Given the description of an element on the screen output the (x, y) to click on. 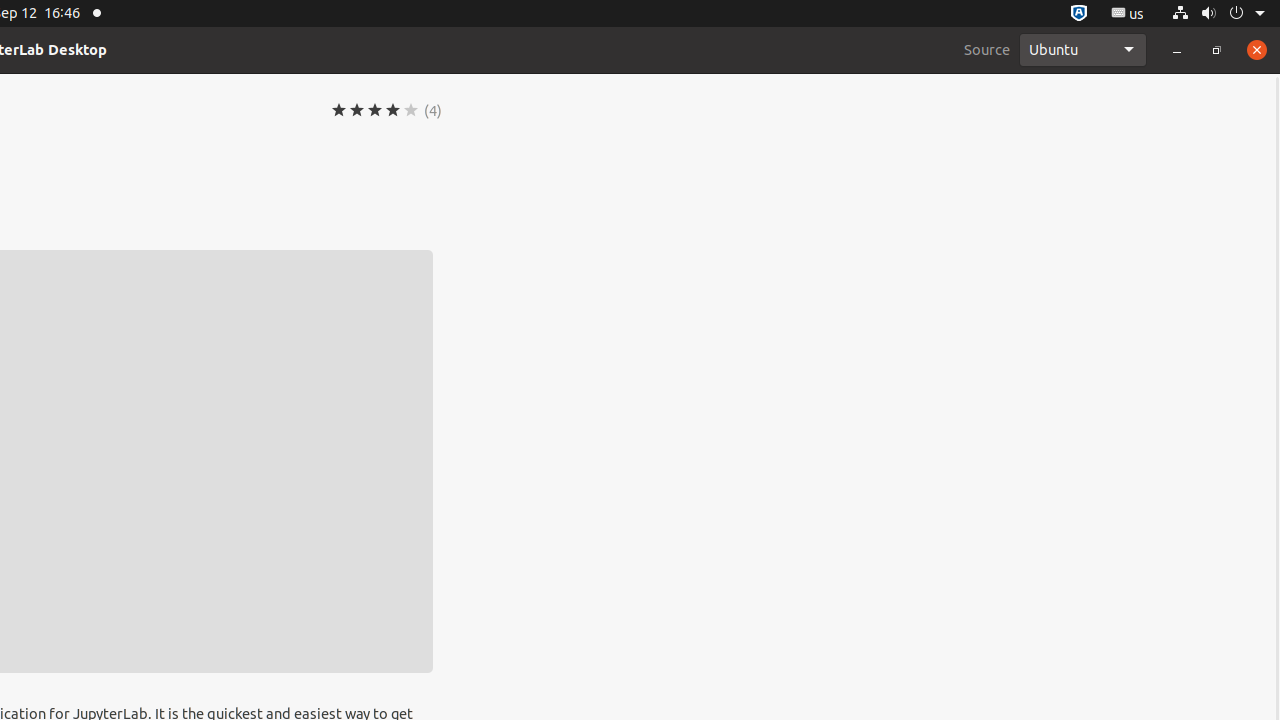
(4) Element type: label (433, 110)
Source Element type: label (987, 49)
